Given the description of an element on the screen output the (x, y) to click on. 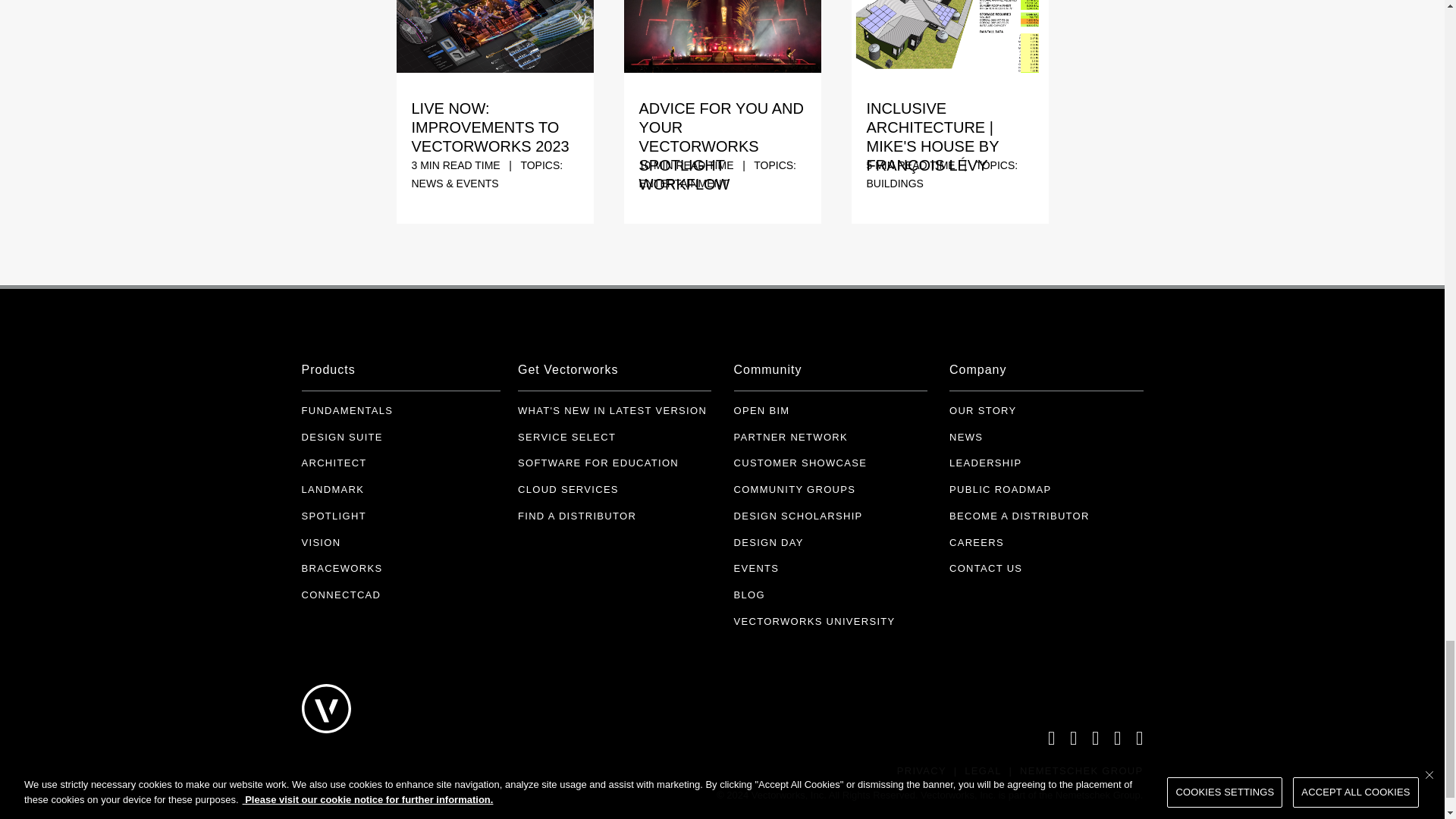
ARCHITECT (333, 463)
FUNDAMENTALS (347, 411)
DESIGN SUITE (341, 437)
SPOTLIGHT (333, 516)
VISION (320, 542)
LANDMARK (333, 489)
